Given the description of an element on the screen output the (x, y) to click on. 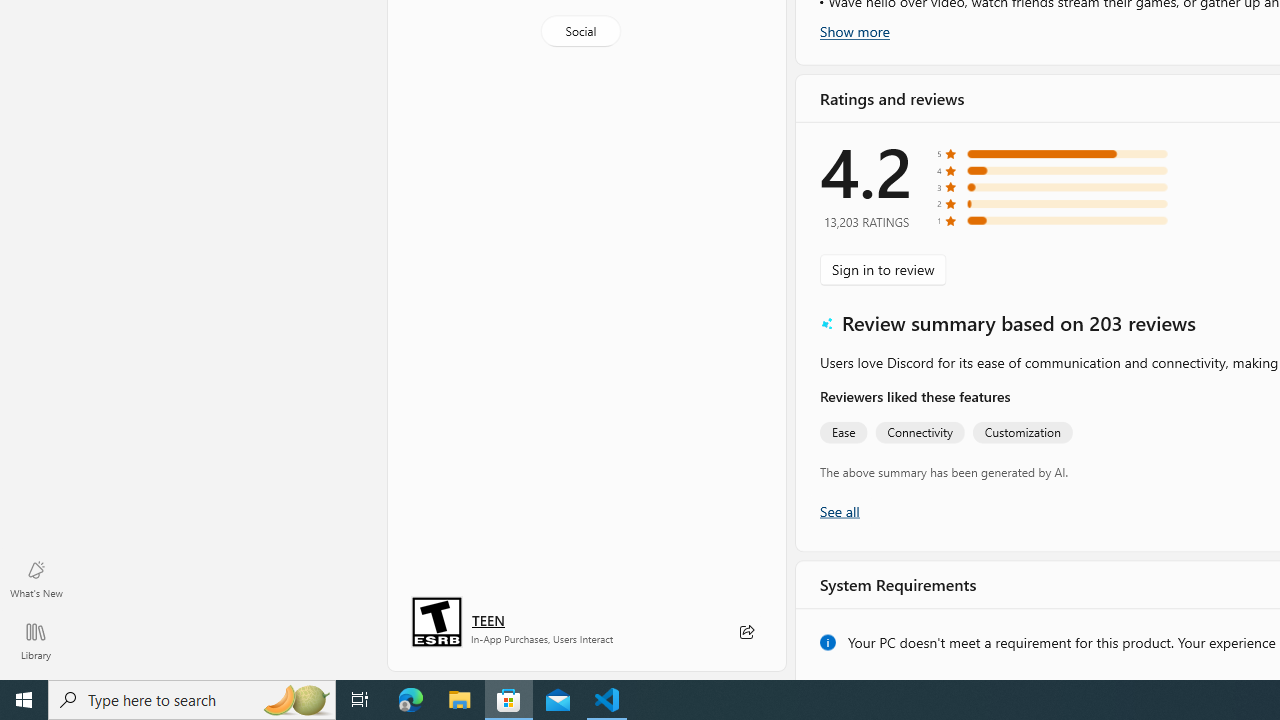
Social (579, 30)
Age rating: TEEN. Click for more information. (488, 619)
What's New (35, 578)
Library (35, 640)
Show more (854, 31)
Share (746, 632)
Sign in to review (882, 269)
Show all ratings and reviews (838, 529)
